Given the description of an element on the screen output the (x, y) to click on. 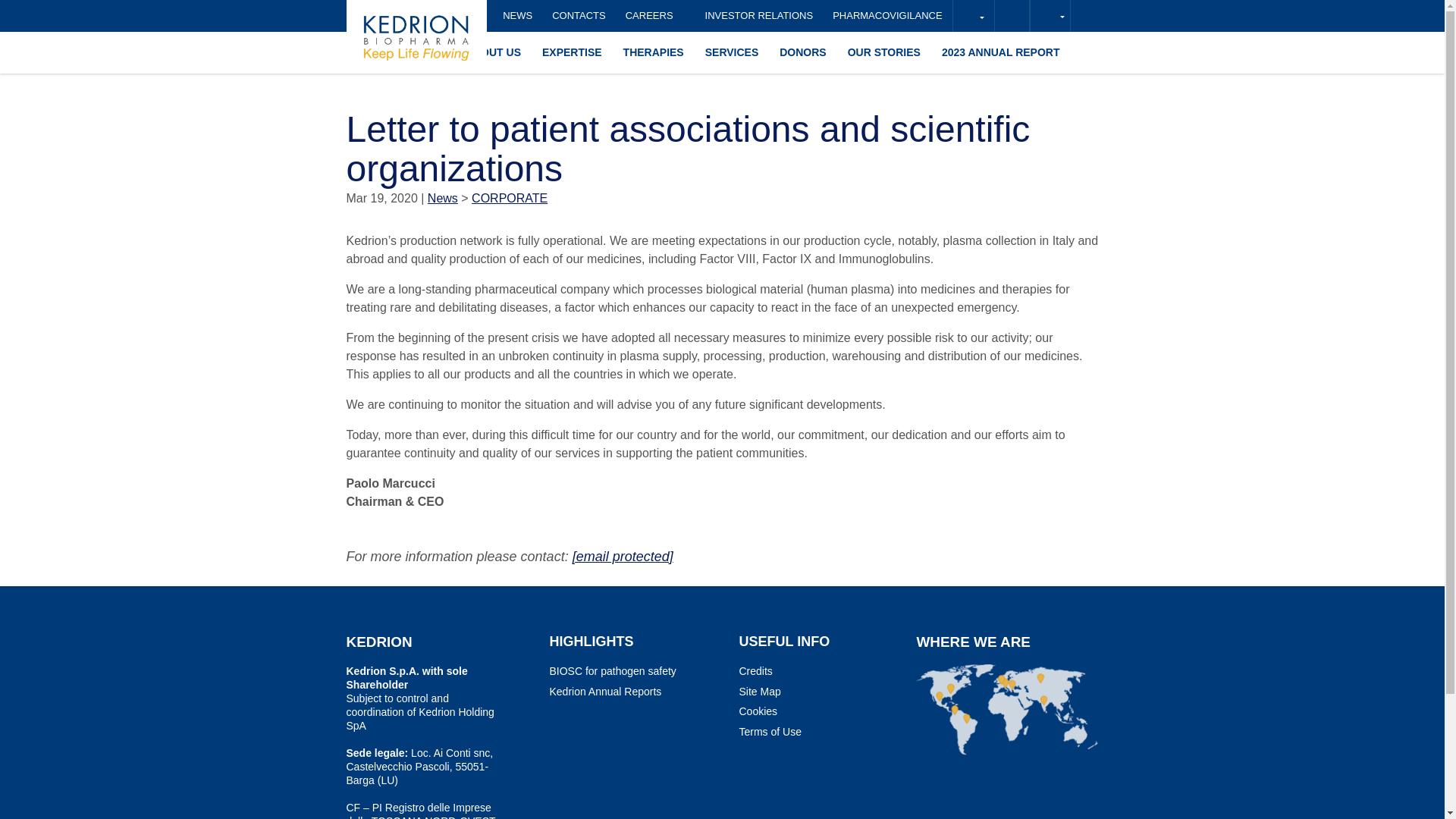
INVESTOR RELATIONS (759, 15)
NEWS (517, 15)
CONTACTS (578, 15)
PHARMACOVIGILANCE (887, 15)
ABOUT US (492, 51)
EXPERTISE (571, 51)
CAREERS (655, 15)
